Given the description of an element on the screen output the (x, y) to click on. 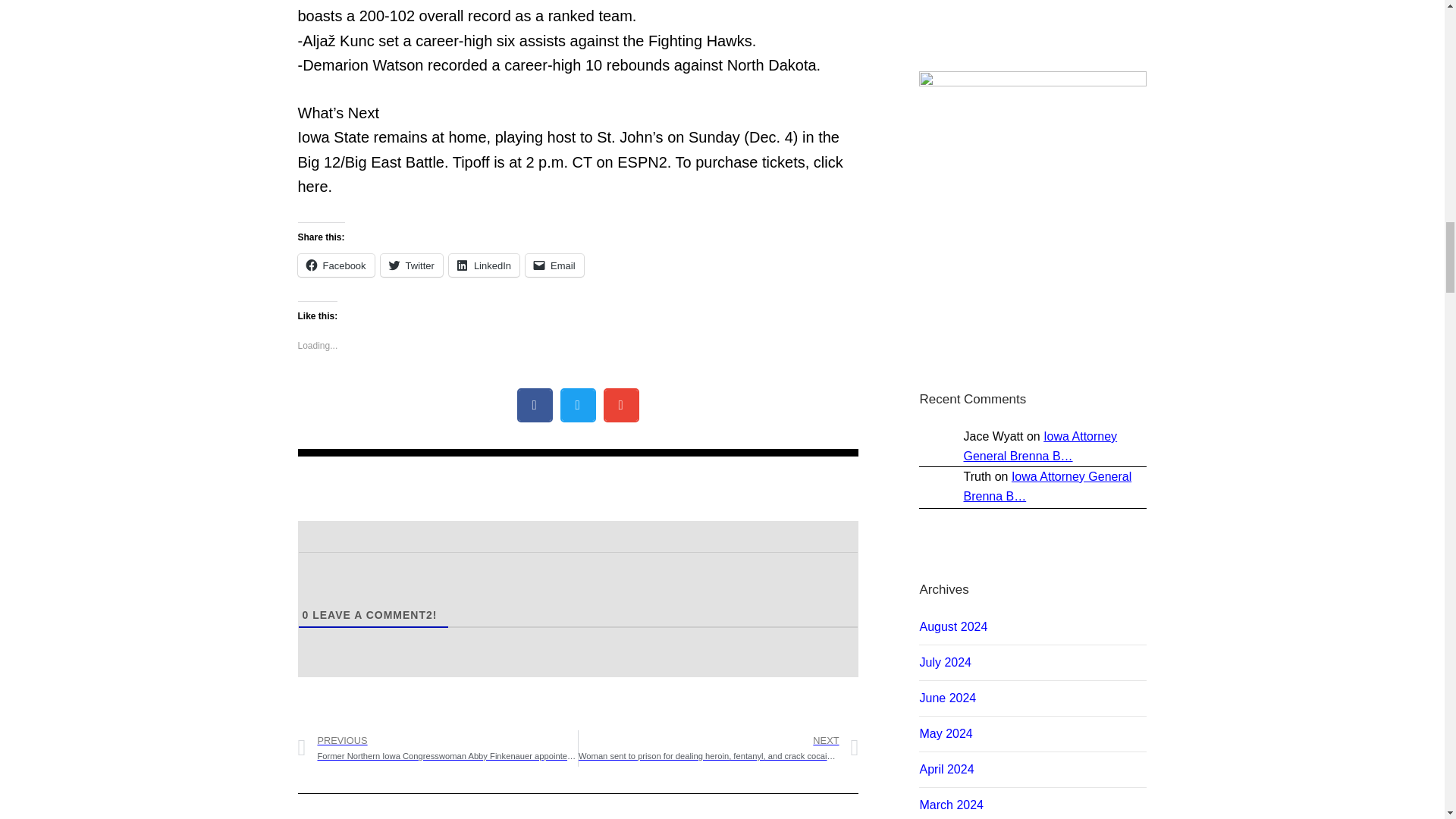
Facebook (335, 264)
LinkedIn (483, 264)
Email (554, 264)
Click to share on LinkedIn (483, 264)
Click to email a link to a friend (554, 264)
Click to share on Facebook (335, 264)
Twitter (411, 264)
Click to share on Twitter (411, 264)
